Given the description of an element on the screen output the (x, y) to click on. 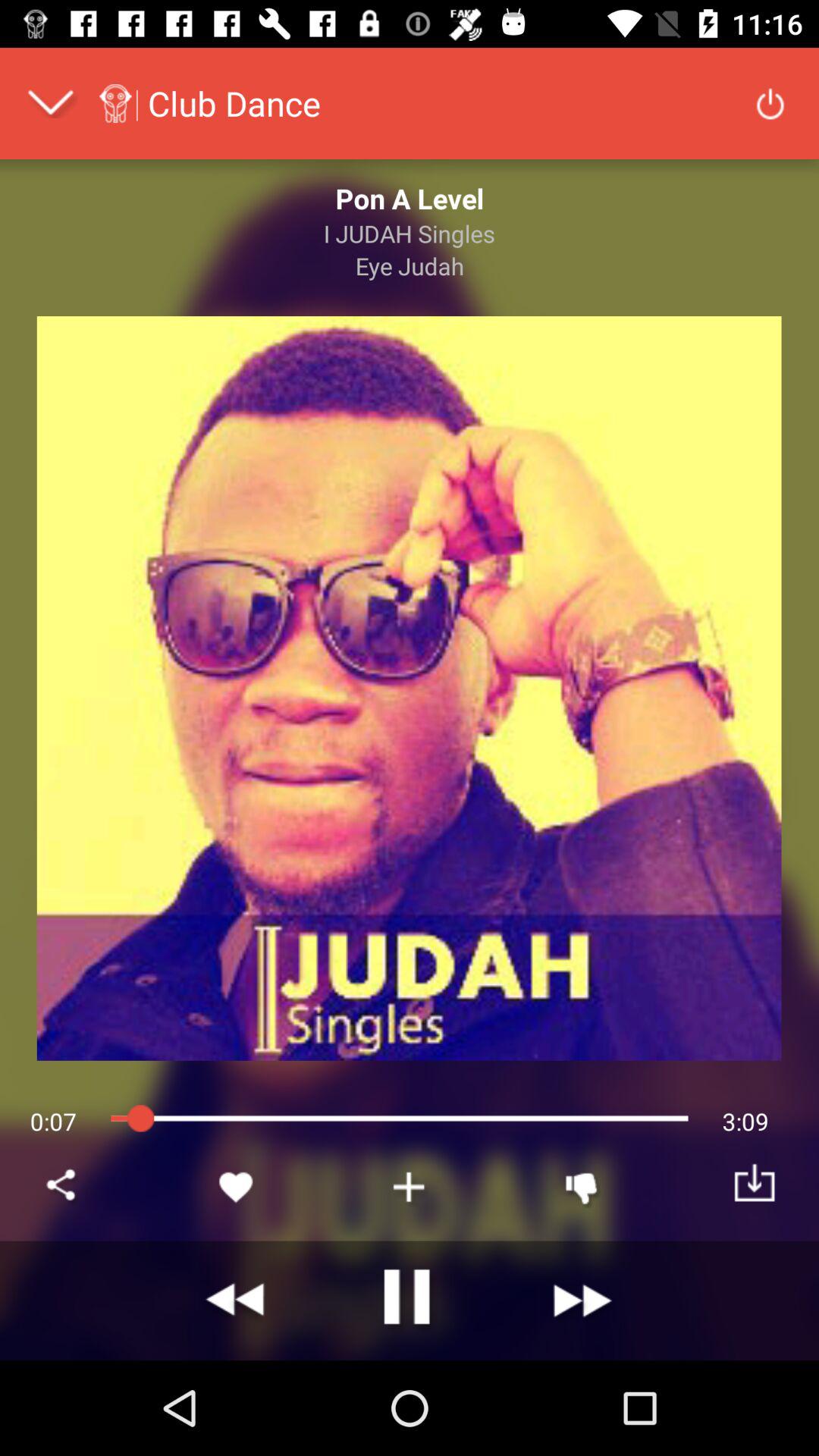
drop down menu (50, 102)
